Given the description of an element on the screen output the (x, y) to click on. 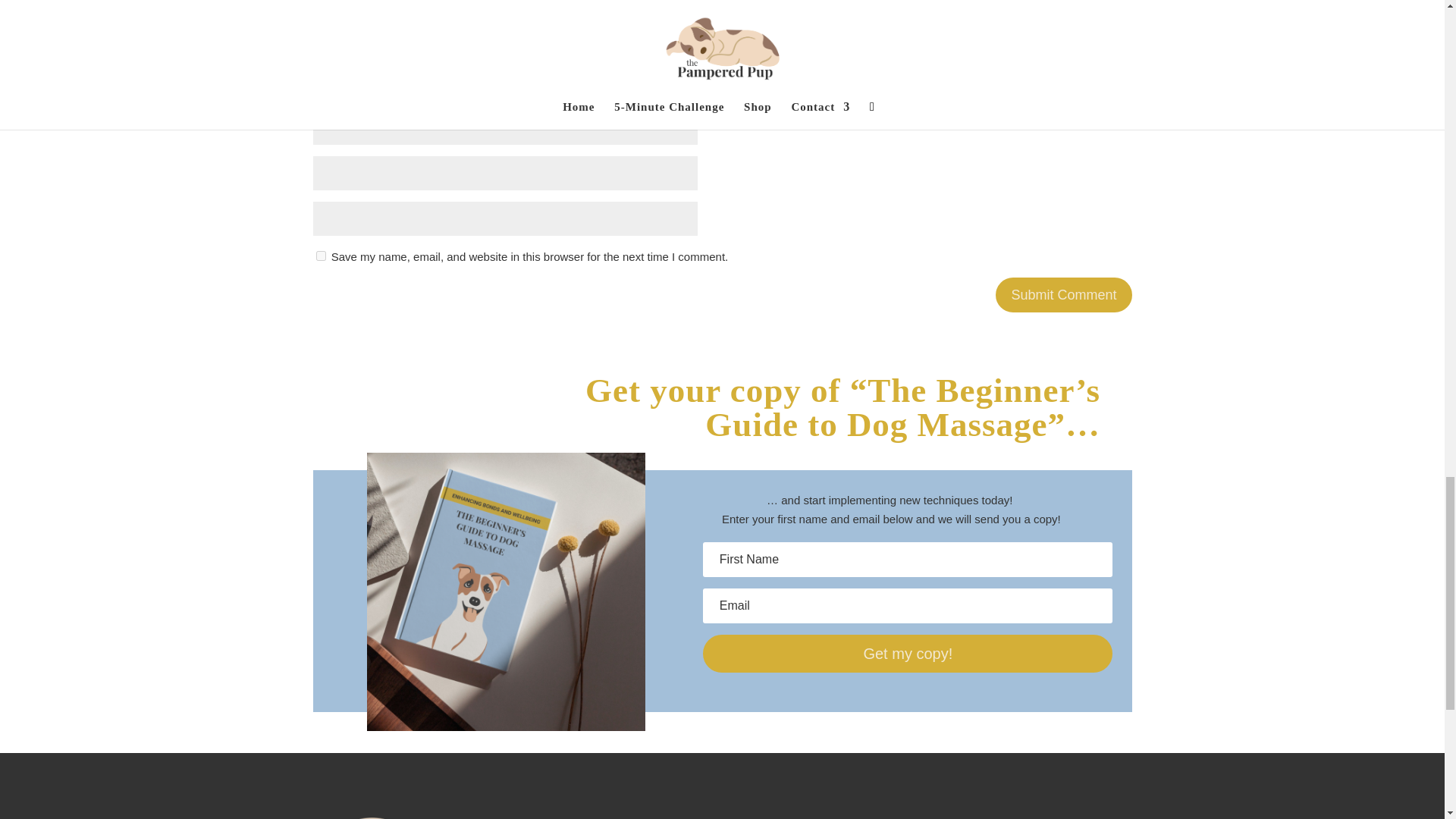
Contact Us (990, 818)
Submit Comment (1063, 294)
Get my copy! (907, 653)
The-Pampered-Pup-Logo-3 (371, 816)
yes (319, 255)
Beginner's Guide to Massage (505, 591)
